Given the description of an element on the screen output the (x, y) to click on. 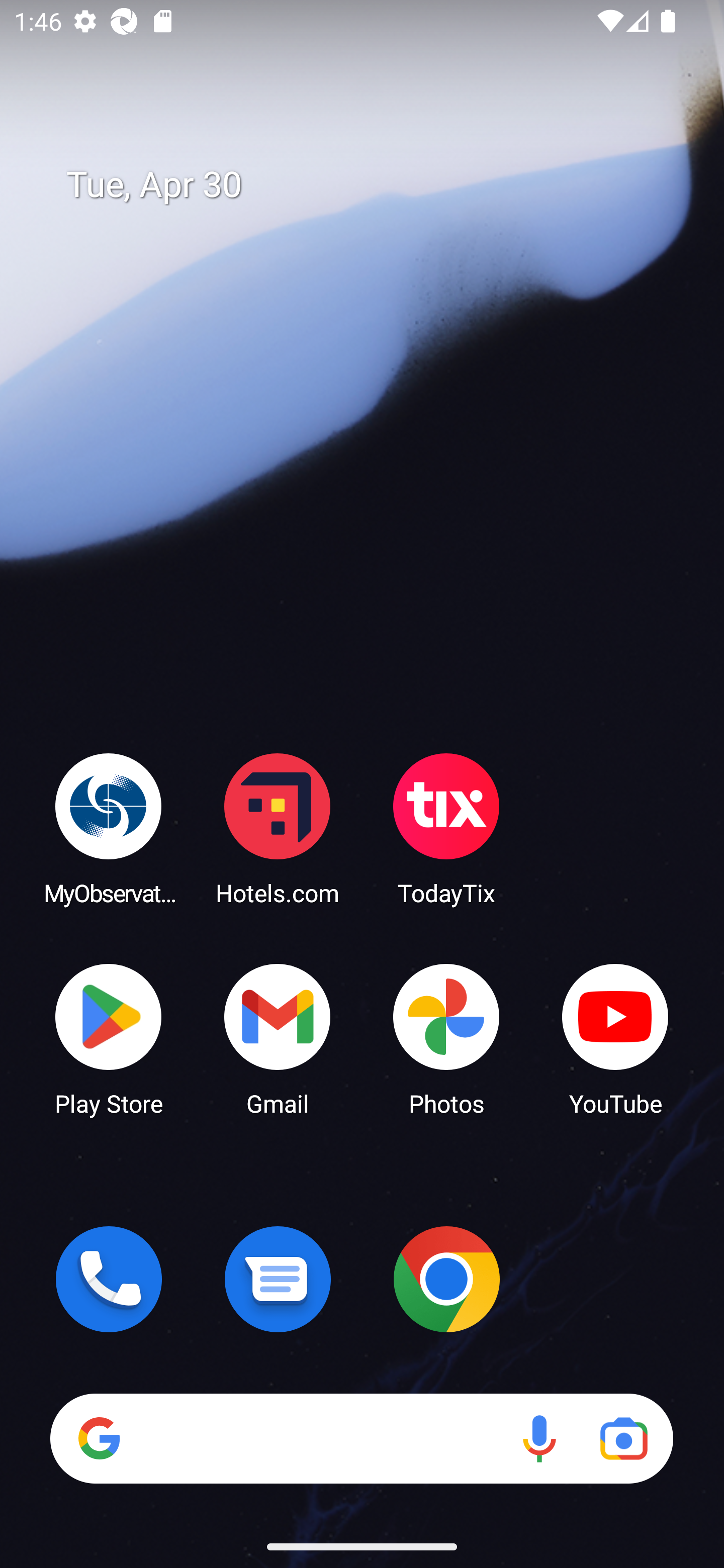
Tue, Apr 30 (375, 184)
MyObservatory (108, 828)
Hotels.com (277, 828)
TodayTix (445, 828)
Play Store (108, 1038)
Gmail (277, 1038)
Photos (445, 1038)
YouTube (615, 1038)
Phone (108, 1279)
Messages (277, 1279)
Chrome (446, 1279)
Voice search (539, 1438)
Google Lens (623, 1438)
